Given the description of an element on the screen output the (x, y) to click on. 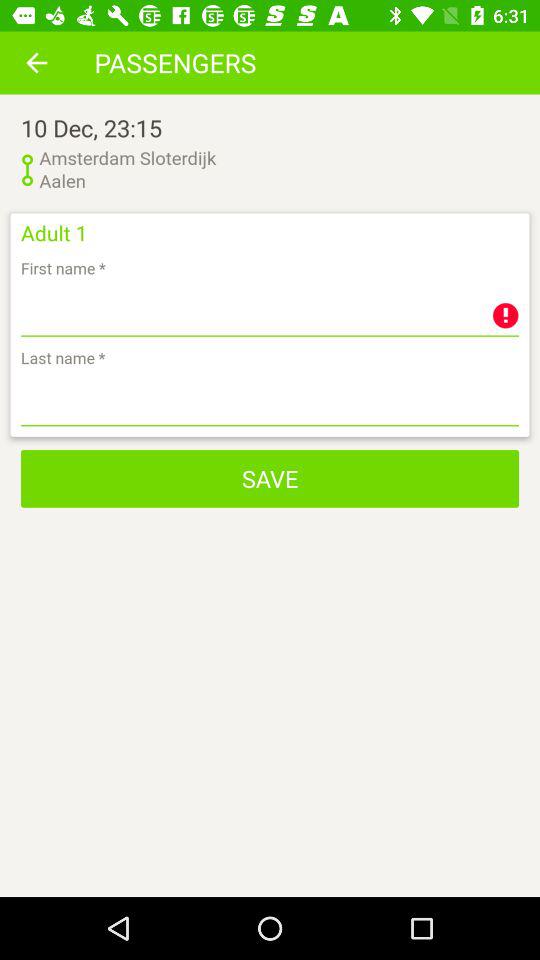
enter first name of passenger adult 1 (270, 310)
